Given the description of an element on the screen output the (x, y) to click on. 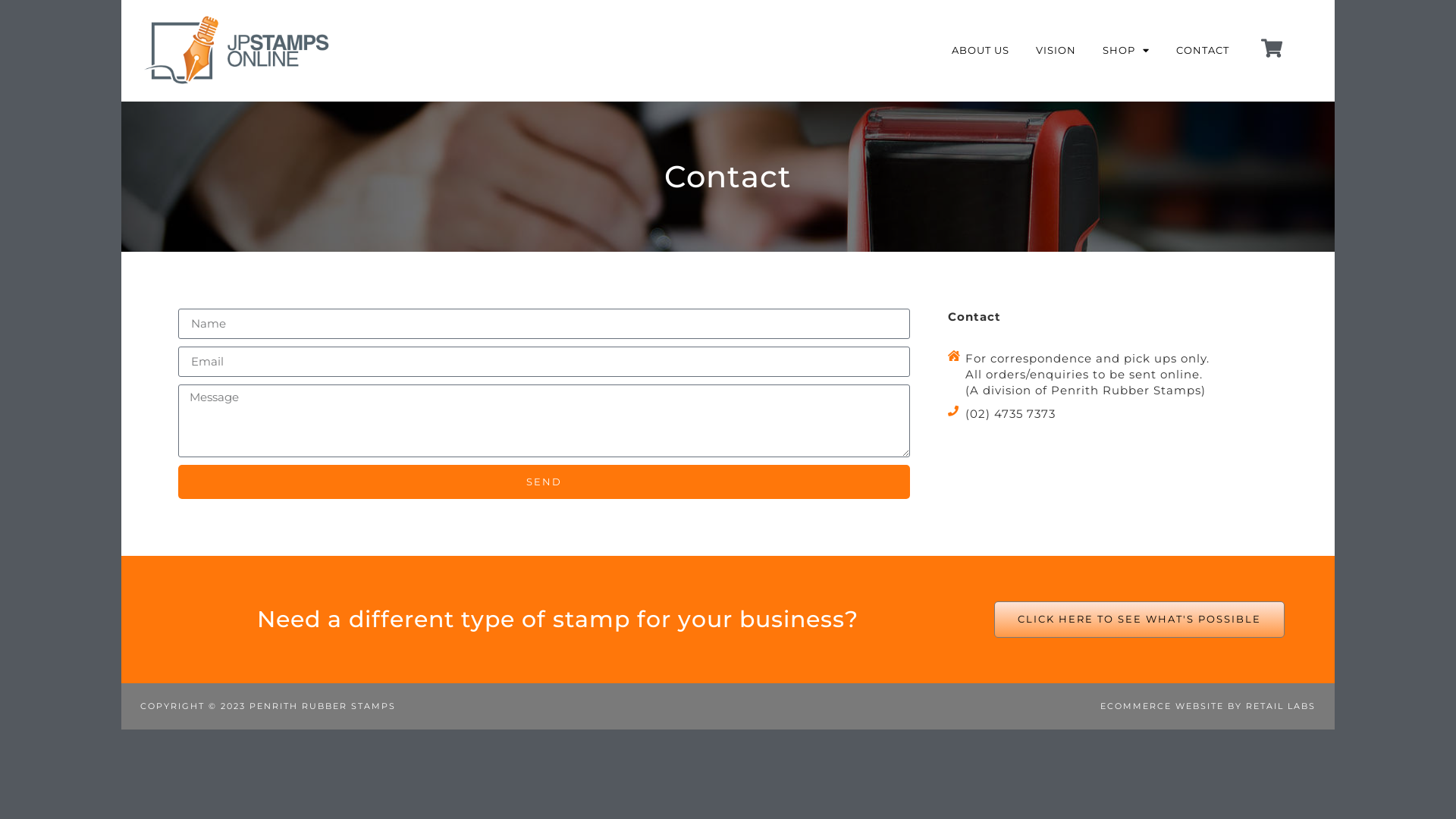
ECOMMERCE WEBSITE BY RETAIL LABS Element type: text (1207, 705)
CLICK HERE TO SEE WHAT'S POSSIBLE Element type: text (1139, 619)
VISION Element type: text (1055, 49)
SHOP Element type: text (1125, 49)
CONTACT Element type: text (1201, 49)
ABOUT US Element type: text (979, 49)
SEND Element type: text (544, 481)
